Given the description of an element on the screen output the (x, y) to click on. 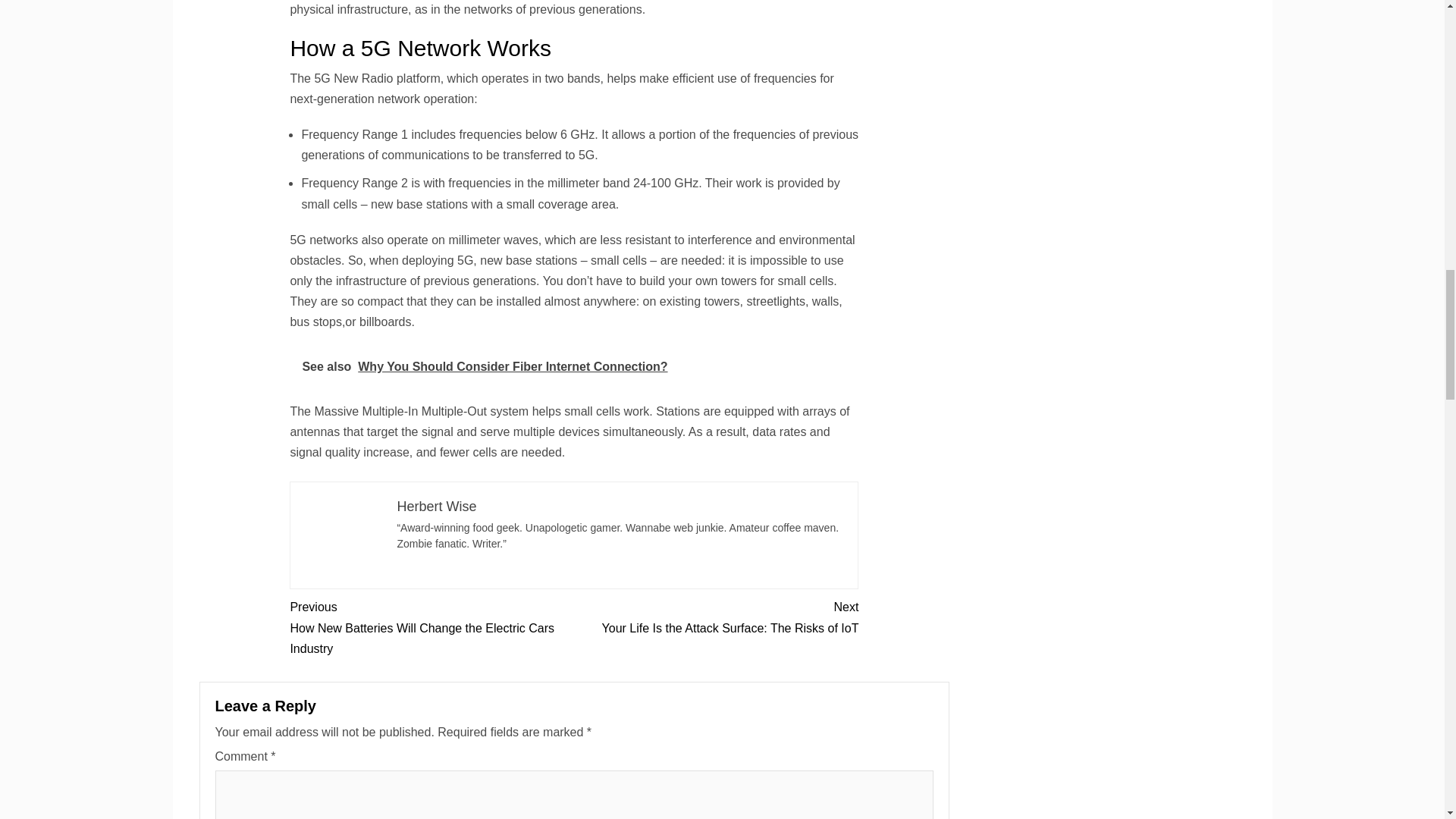
Herbert Wise (436, 506)
See also  Why You Should Consider Fiber Internet Connection? (716, 617)
